Given the description of an element on the screen output the (x, y) to click on. 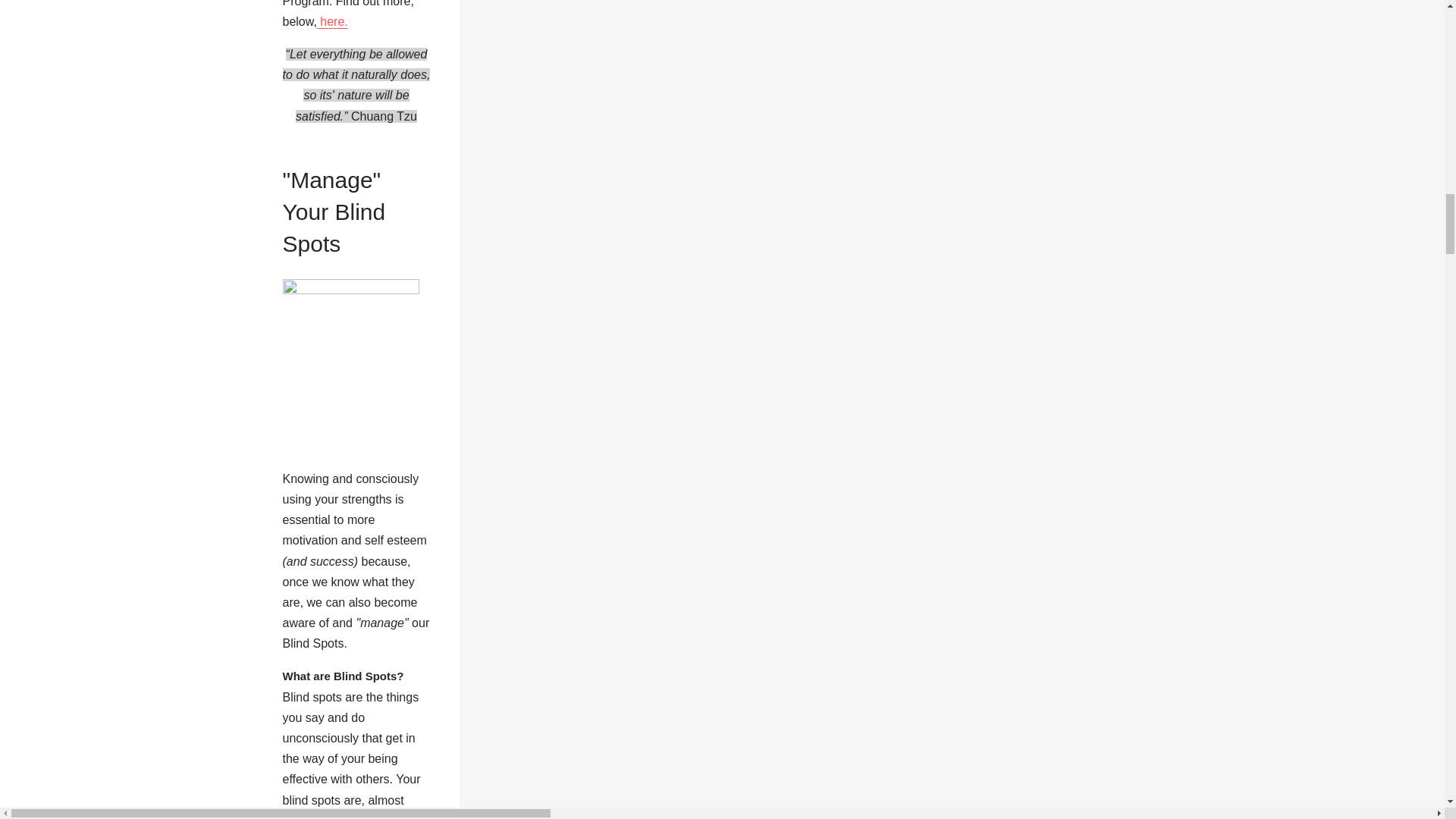
here. (332, 21)
